Given the description of an element on the screen output the (x, y) to click on. 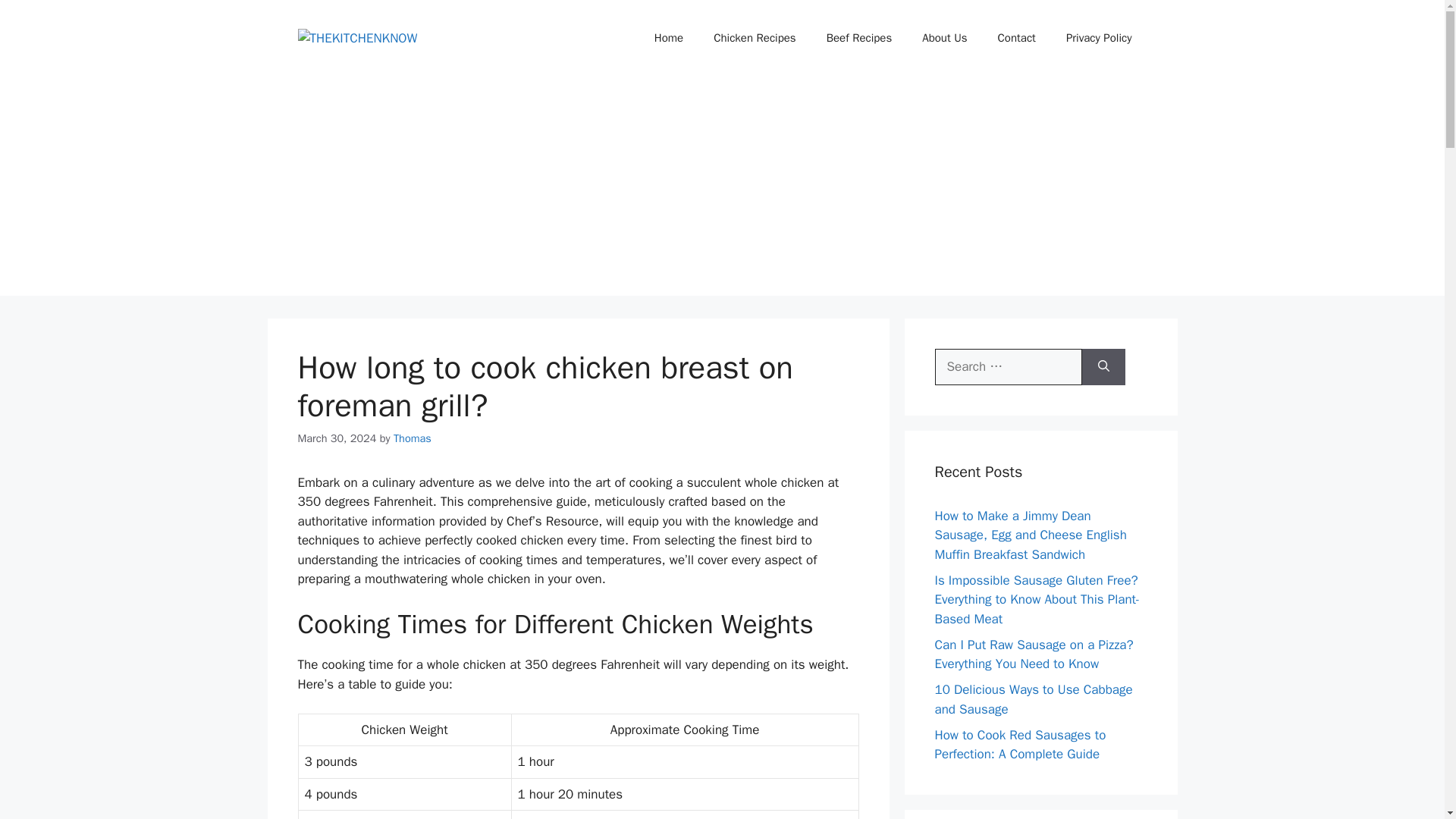
View all posts by Thomas (411, 438)
Chicken Recipes (754, 37)
About Us (944, 37)
Privacy Policy (1099, 37)
Thomas (411, 438)
10 Delicious Ways to Use Cabbage and Sausage (1033, 699)
Home (668, 37)
Contact (1016, 37)
How to Cook Red Sausages to Perfection: A Complete Guide (1019, 744)
Beef Recipes (858, 37)
